Given the description of an element on the screen output the (x, y) to click on. 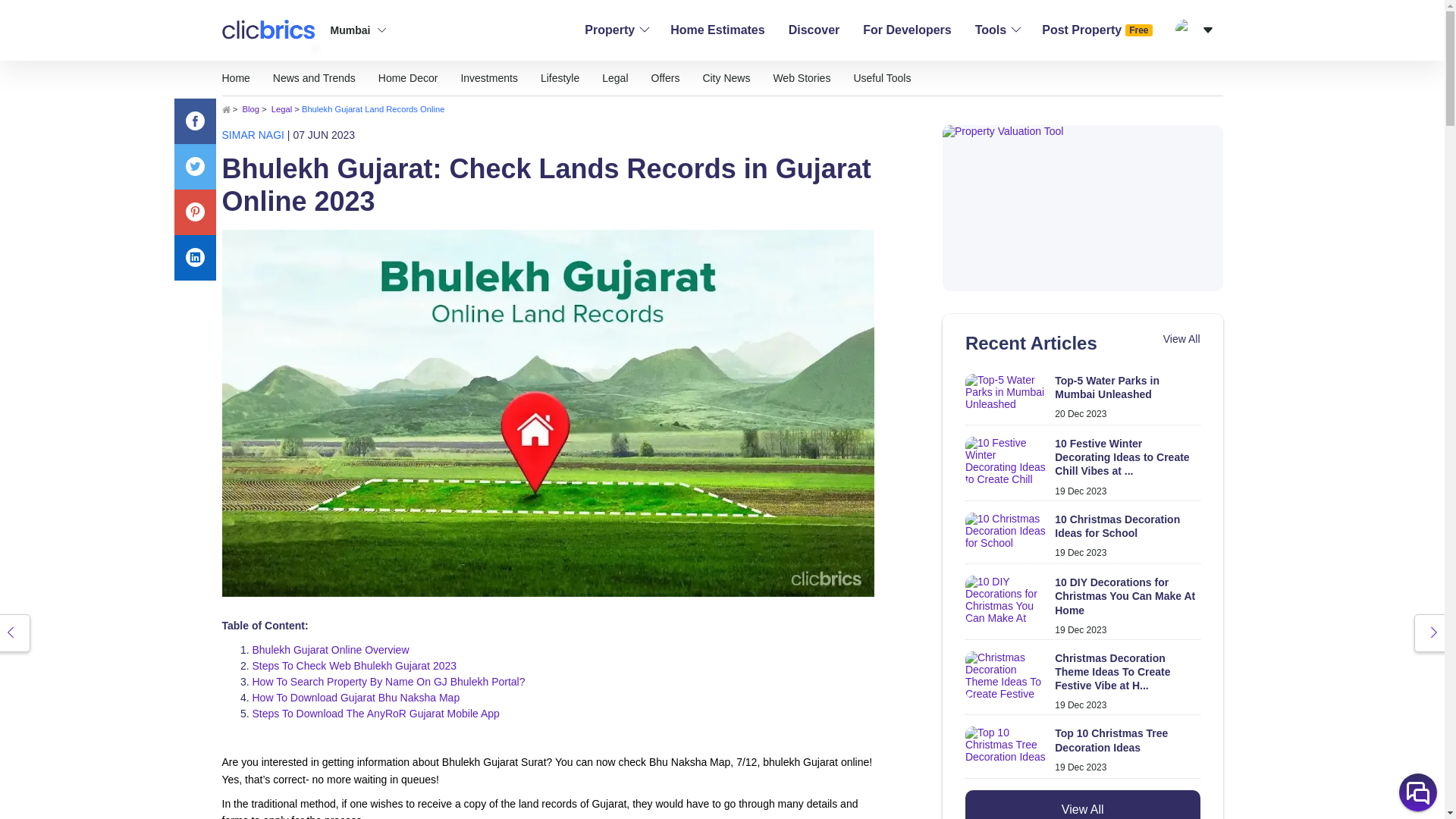
Blog (251, 108)
Legal (281, 108)
How To Search Property By Name On GJ Bhulekh Portal? (387, 681)
For Developers (906, 29)
How To Download Gujarat Bhu Naksha Map (355, 697)
Steps To Check Web Bhulekh Gujarat 2023 (354, 665)
Steps To Download The AnyRoR Gujarat Mobile App (375, 713)
Home Estimates (717, 29)
SIMAR NAGI (252, 134)
Bhulekh Gujarat Online Overview (330, 649)
